Given the description of an element on the screen output the (x, y) to click on. 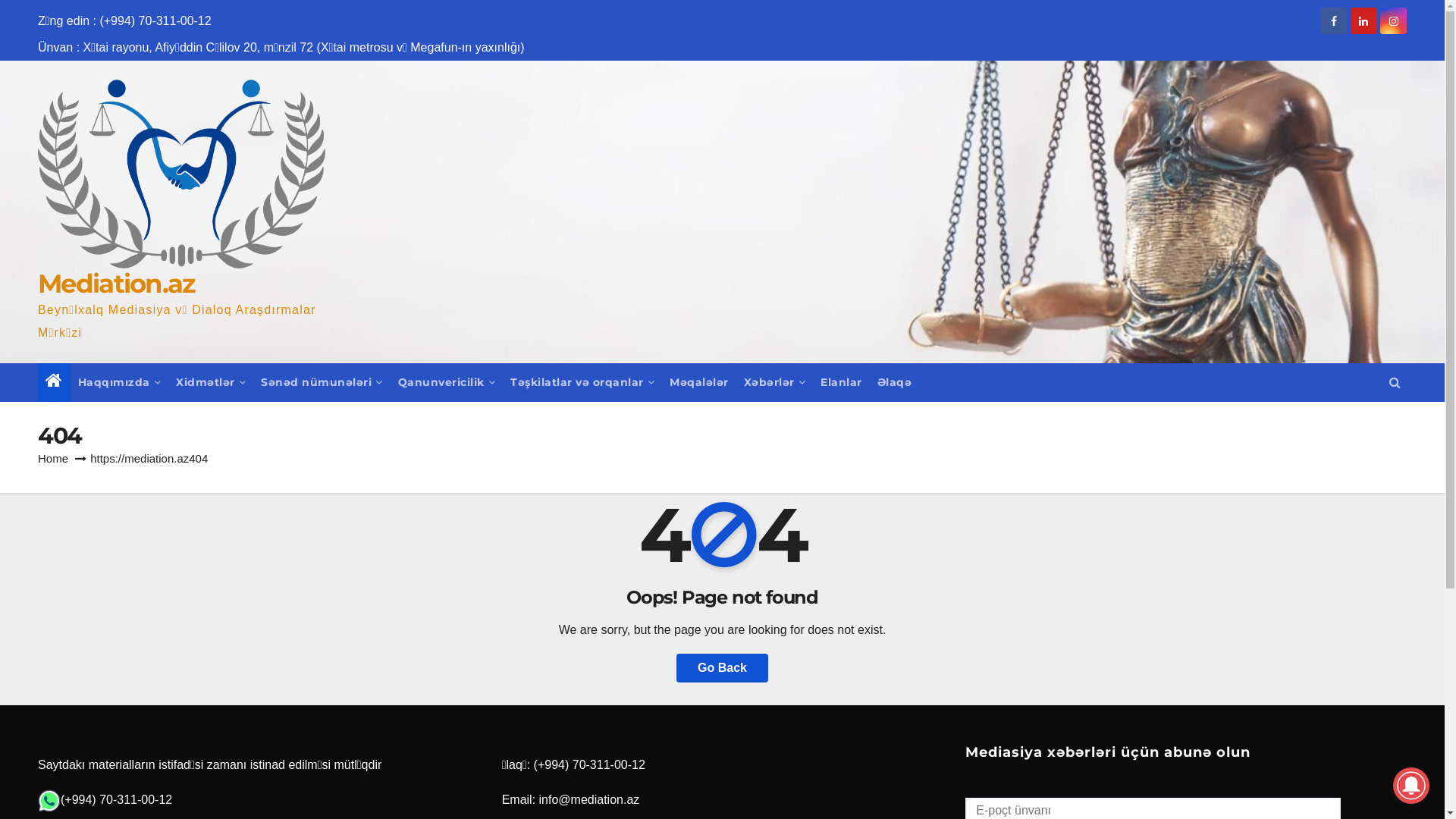
Qanunvericilik Element type: text (445, 382)
Mediation.az Element type: text (115, 283)
Home Element type: text (52, 457)
Elanlar Element type: text (840, 382)
Go Back Element type: text (722, 667)
